Given the description of an element on the screen output the (x, y) to click on. 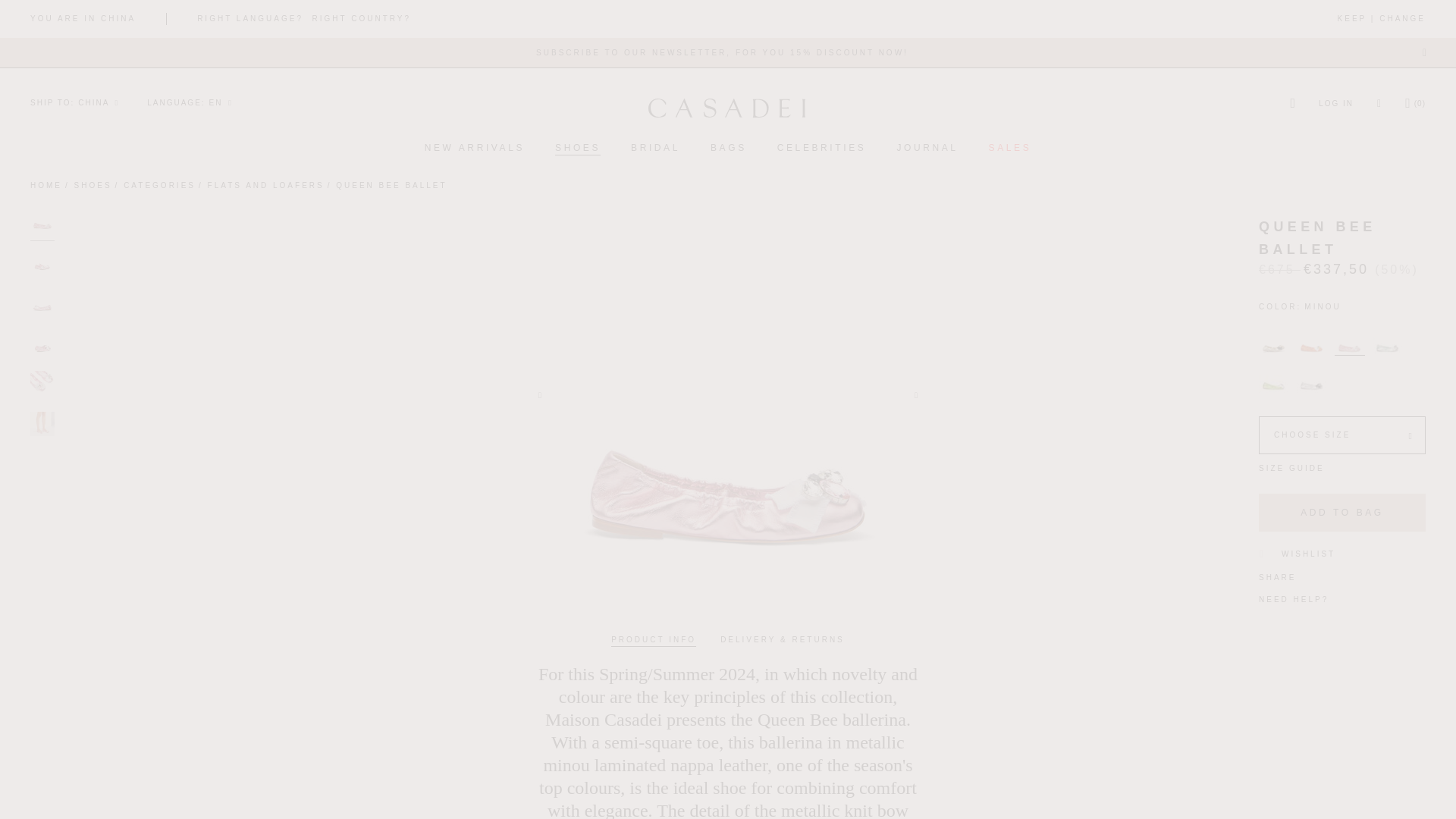
Home (46, 185)
Proceed (1419, 103)
NEW ARRIVALS (474, 148)
